Given the description of an element on the screen output the (x, y) to click on. 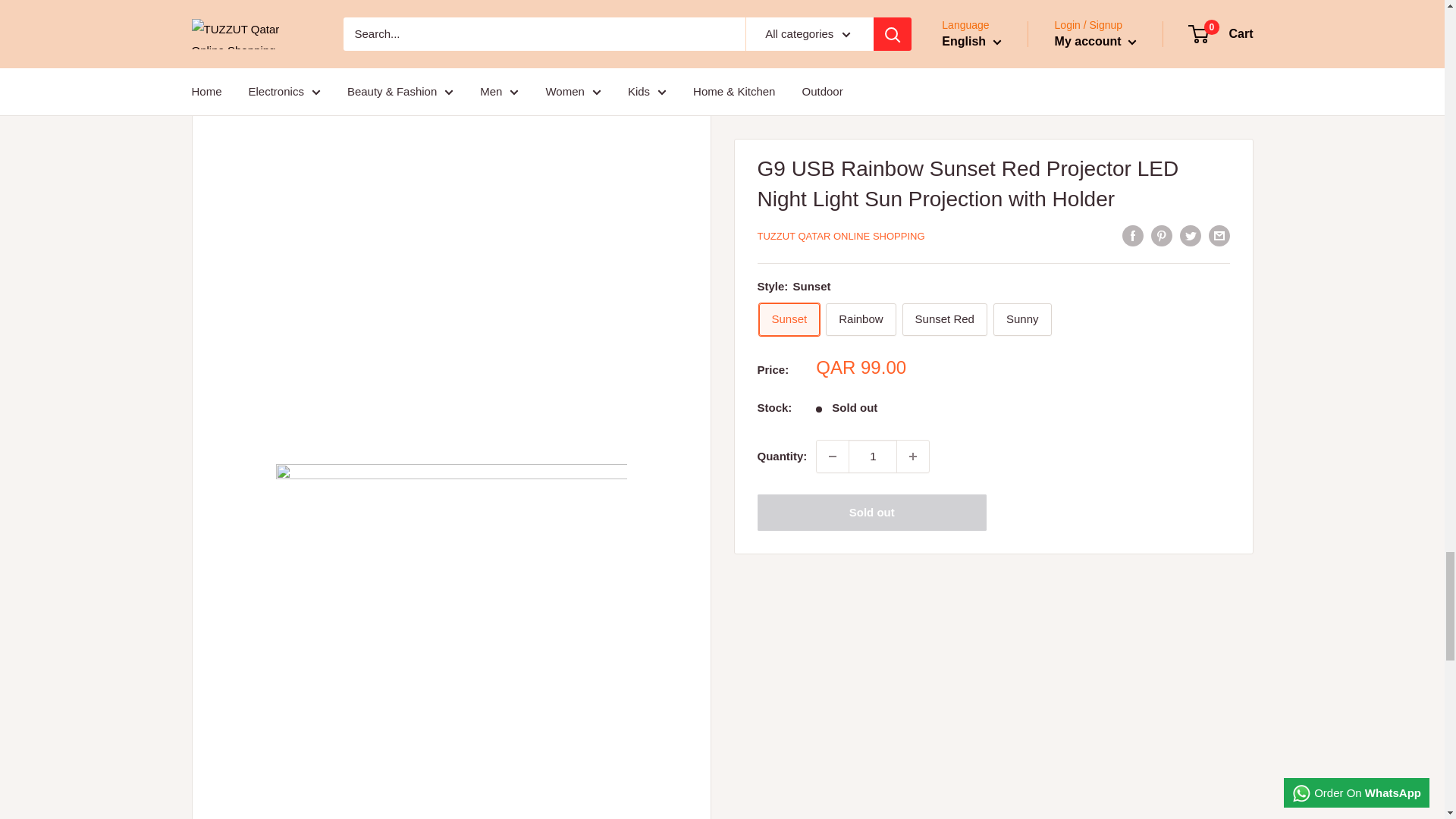
G9 3 (451, 5)
G9 (451, 639)
G9 4 (451, 220)
